Given the description of an element on the screen output the (x, y) to click on. 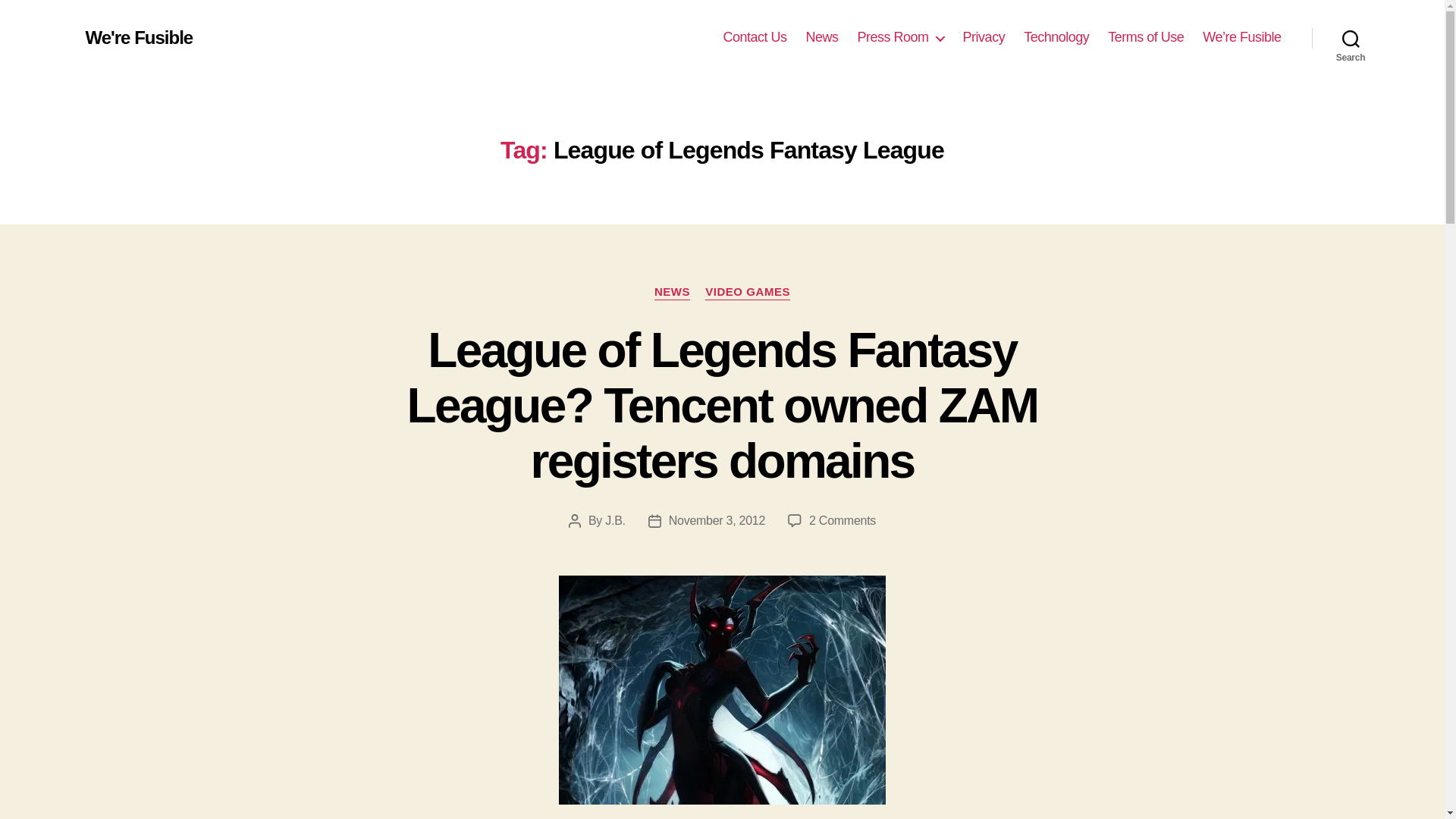
NEWS (671, 292)
News (822, 37)
Search (1350, 37)
November 3, 2012 (716, 520)
Contact Us (754, 37)
J.B. (614, 520)
Press Room (900, 37)
Privacy (984, 37)
